Given the description of an element on the screen output the (x, y) to click on. 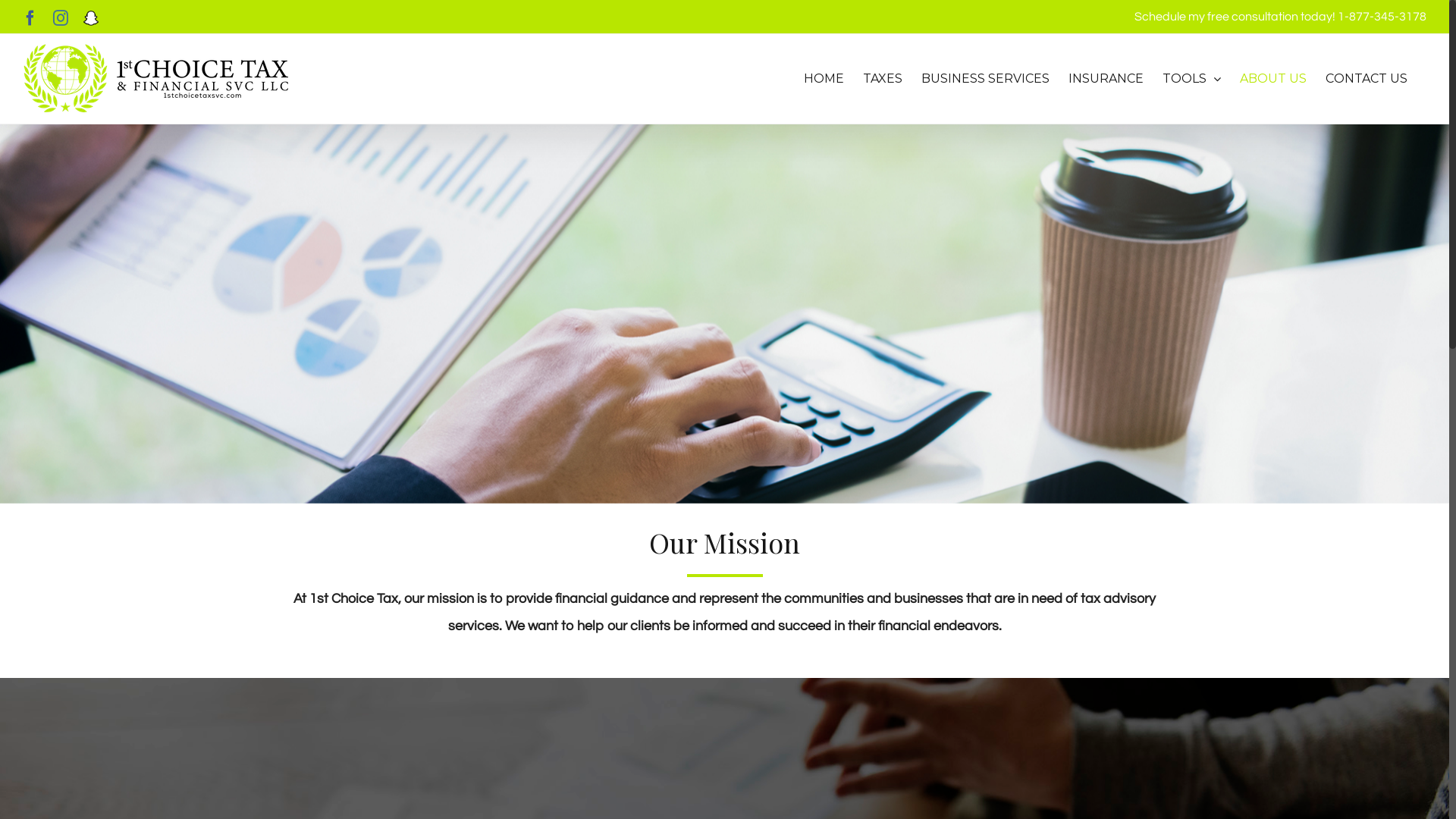
INSURANCE Element type: text (1105, 78)
CONTACT US Element type: text (1366, 78)
BUSINESS SERVICES Element type: text (985, 78)
HOME Element type: text (823, 78)
Snapchat Element type: text (90, 17)
TOOLS Element type: text (1191, 78)
ABOUT US Element type: text (1272, 78)
TAXES Element type: text (882, 78)
Facebook Element type: text (29, 17)
Instagram Element type: text (60, 17)
